Given the description of an element on the screen output the (x, y) to click on. 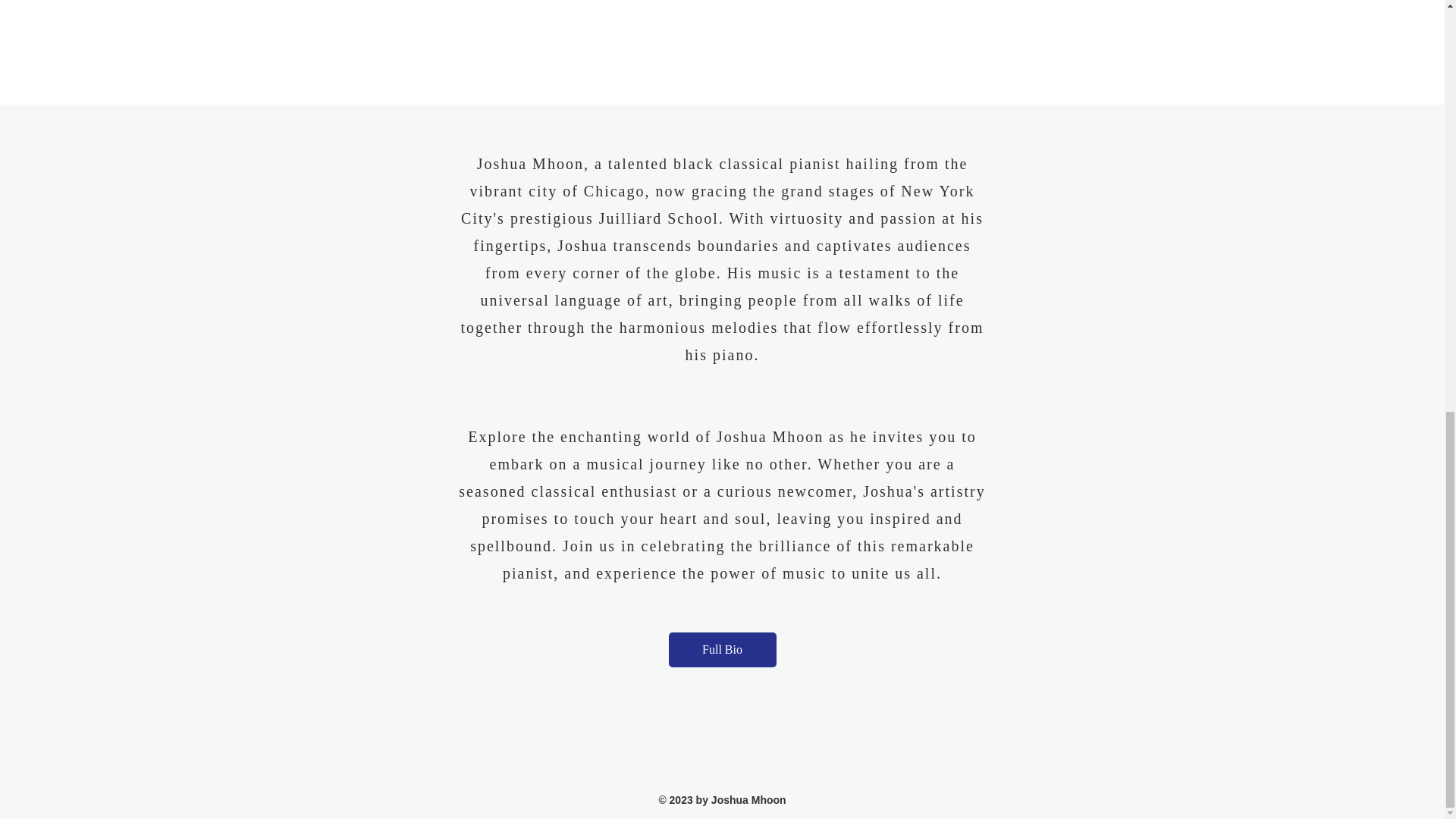
Full Bio (722, 649)
